Given the description of an element on the screen output the (x, y) to click on. 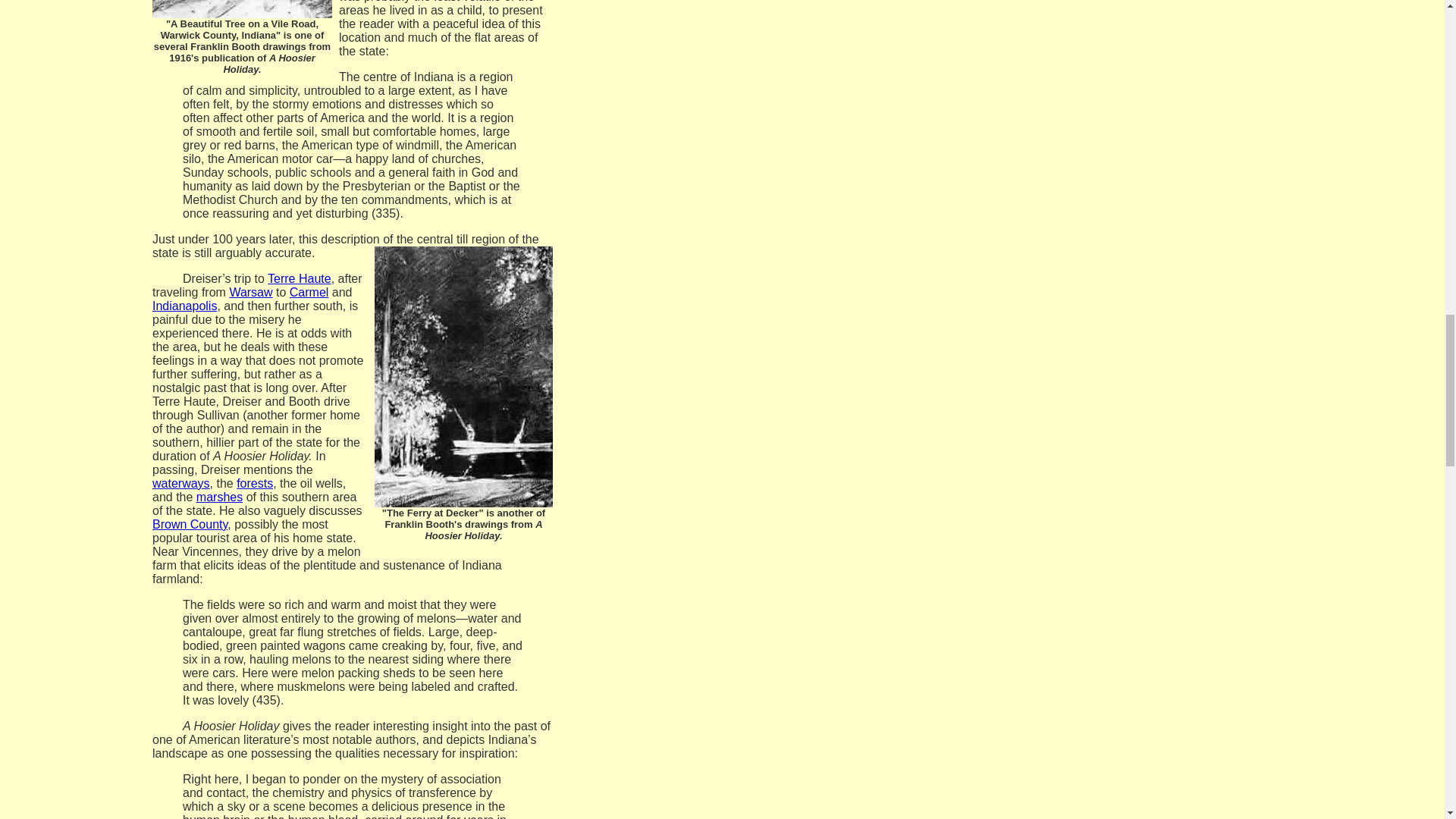
Indianapolis (184, 305)
Warsaw (250, 291)
Carmel (309, 291)
waterways (180, 482)
Terre Haute (299, 278)
Brown (171, 523)
marshes (219, 496)
forests (254, 482)
County (209, 523)
